Given the description of an element on the screen output the (x, y) to click on. 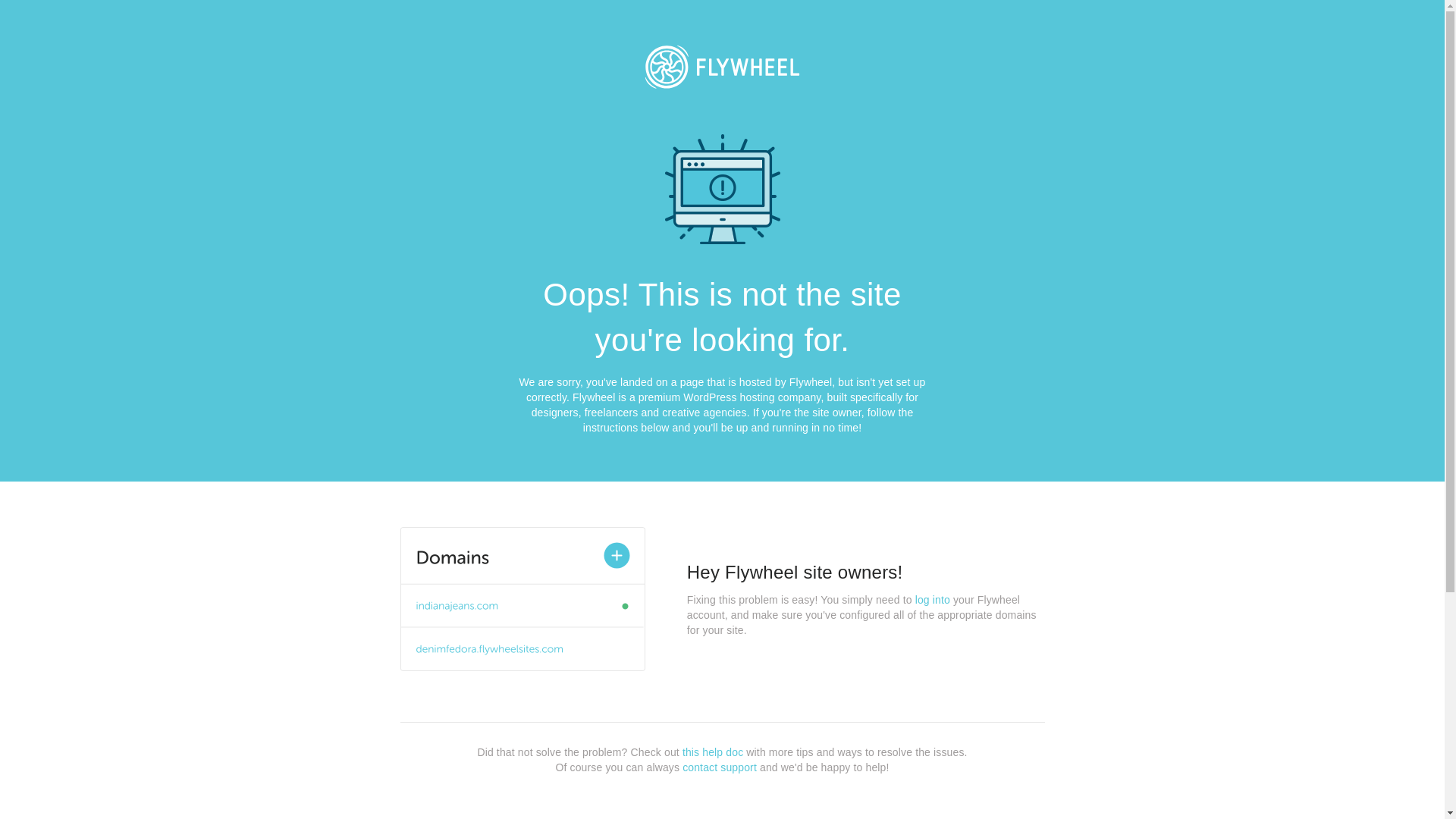
this help doc Element type: text (712, 752)
contact support Element type: text (719, 767)
log into Element type: text (932, 599)
